Given the description of an element on the screen output the (x, y) to click on. 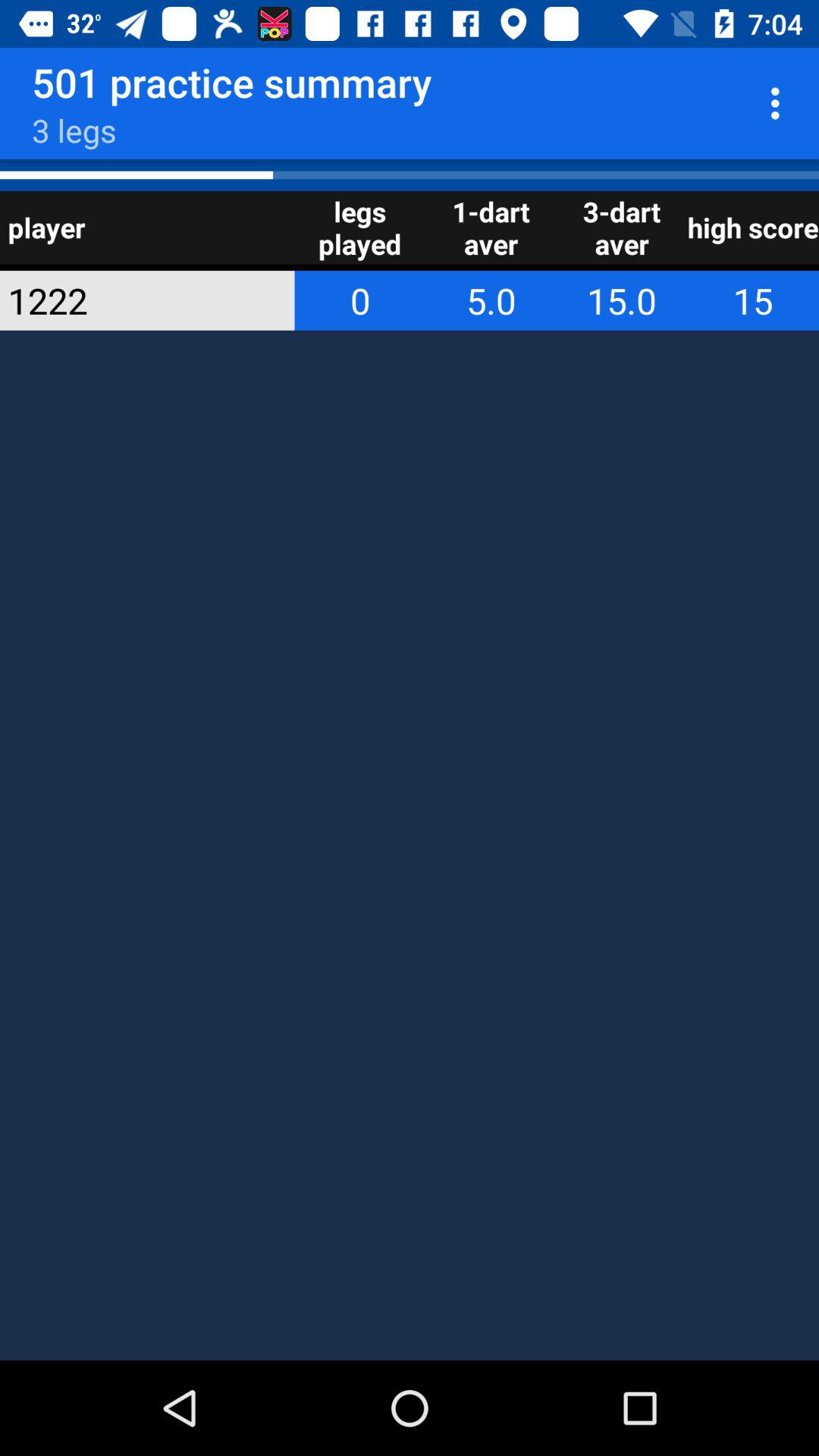
choose the app to the left of the legs
played (126, 300)
